Given the description of an element on the screen output the (x, y) to click on. 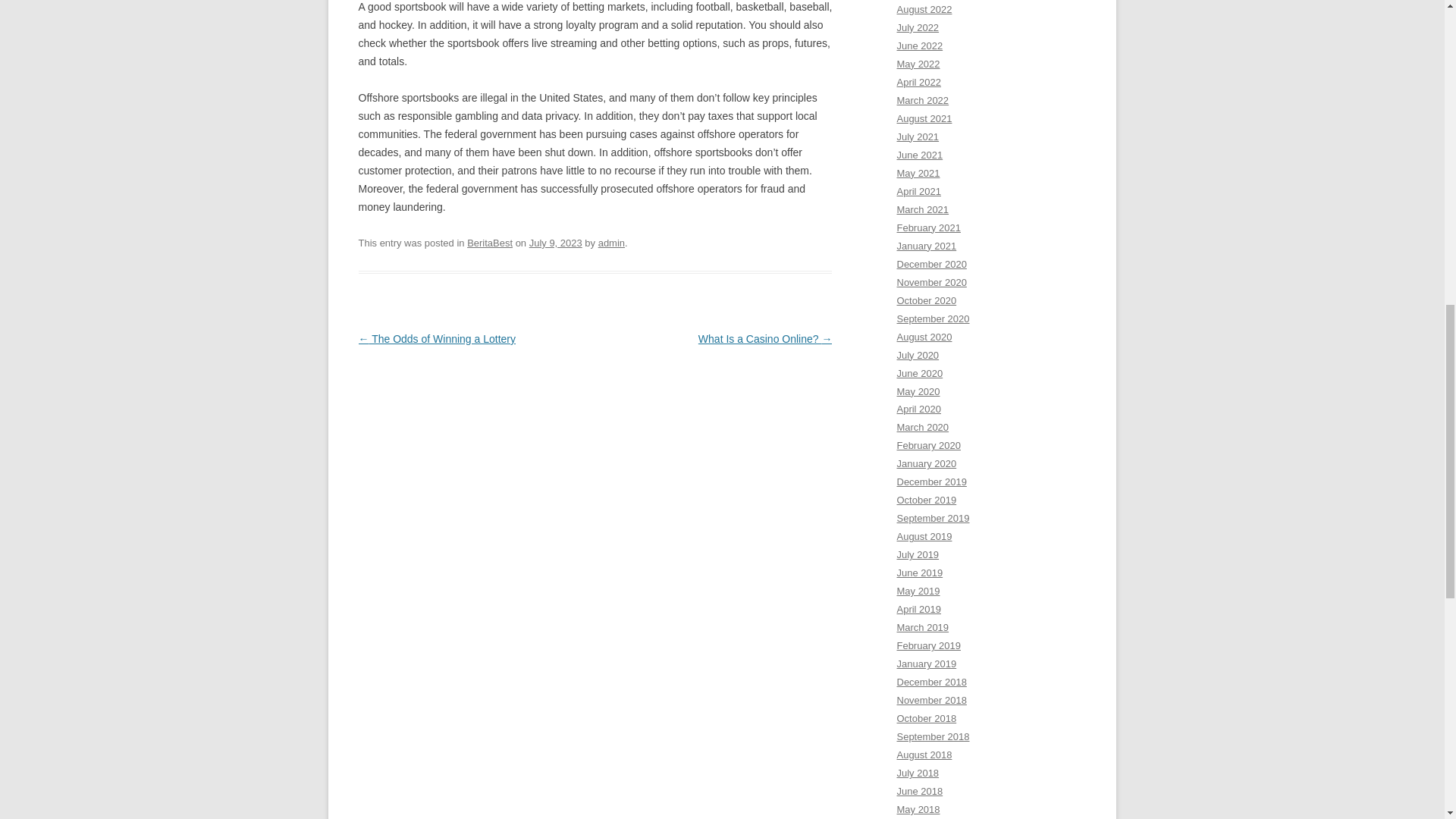
BeritaBest (489, 242)
View all posts by admin (611, 242)
July 9, 2023 (555, 242)
admin (611, 242)
4:41 pm (555, 242)
